Given the description of an element on the screen output the (x, y) to click on. 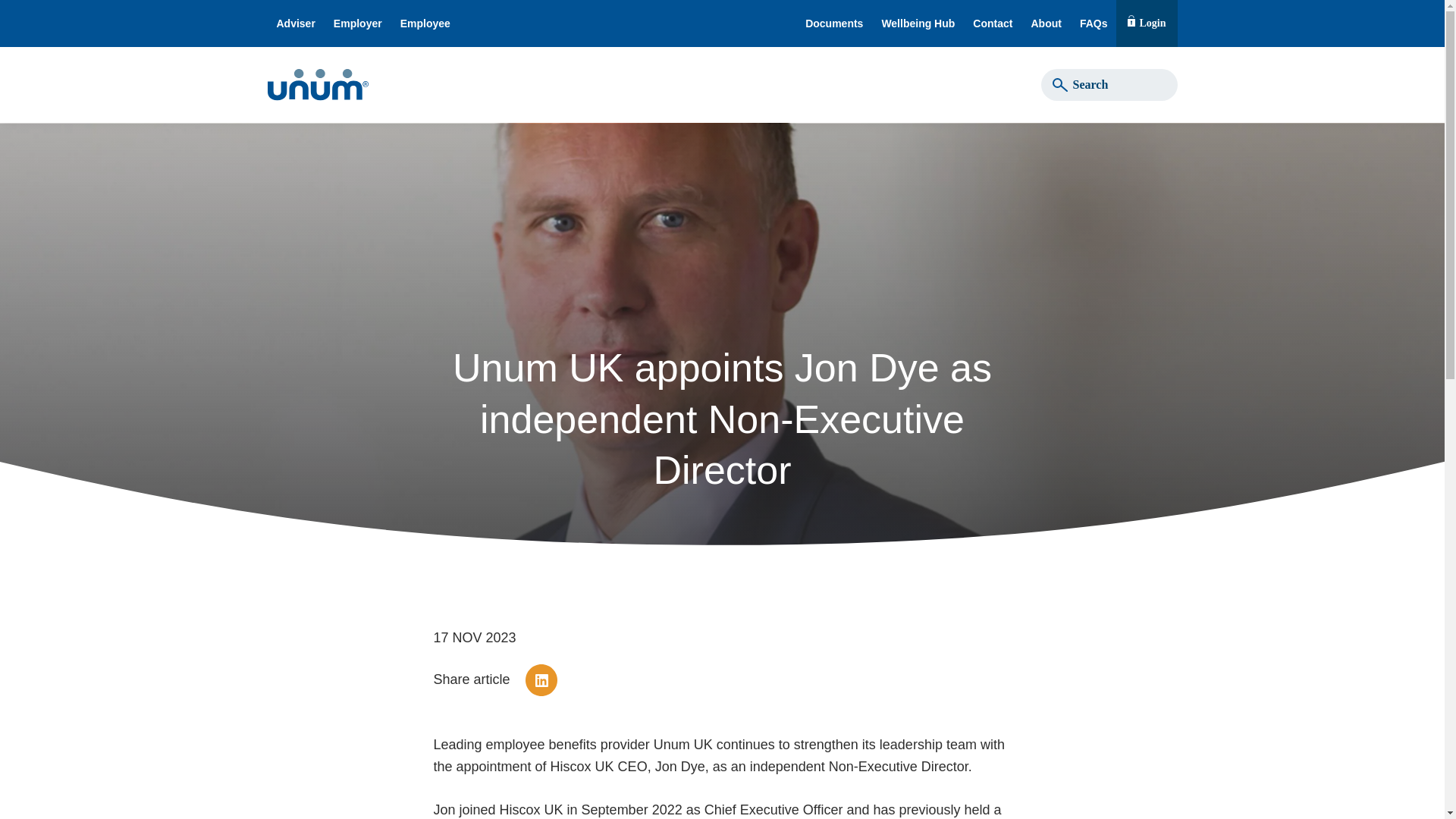
Documents (834, 23)
Employee (425, 23)
FAQs (1093, 23)
Employer (357, 23)
Adviser (1146, 23)
Contact (294, 23)
Wellbeing Hub (992, 23)
About (917, 23)
